Given the description of an element on the screen output the (x, y) to click on. 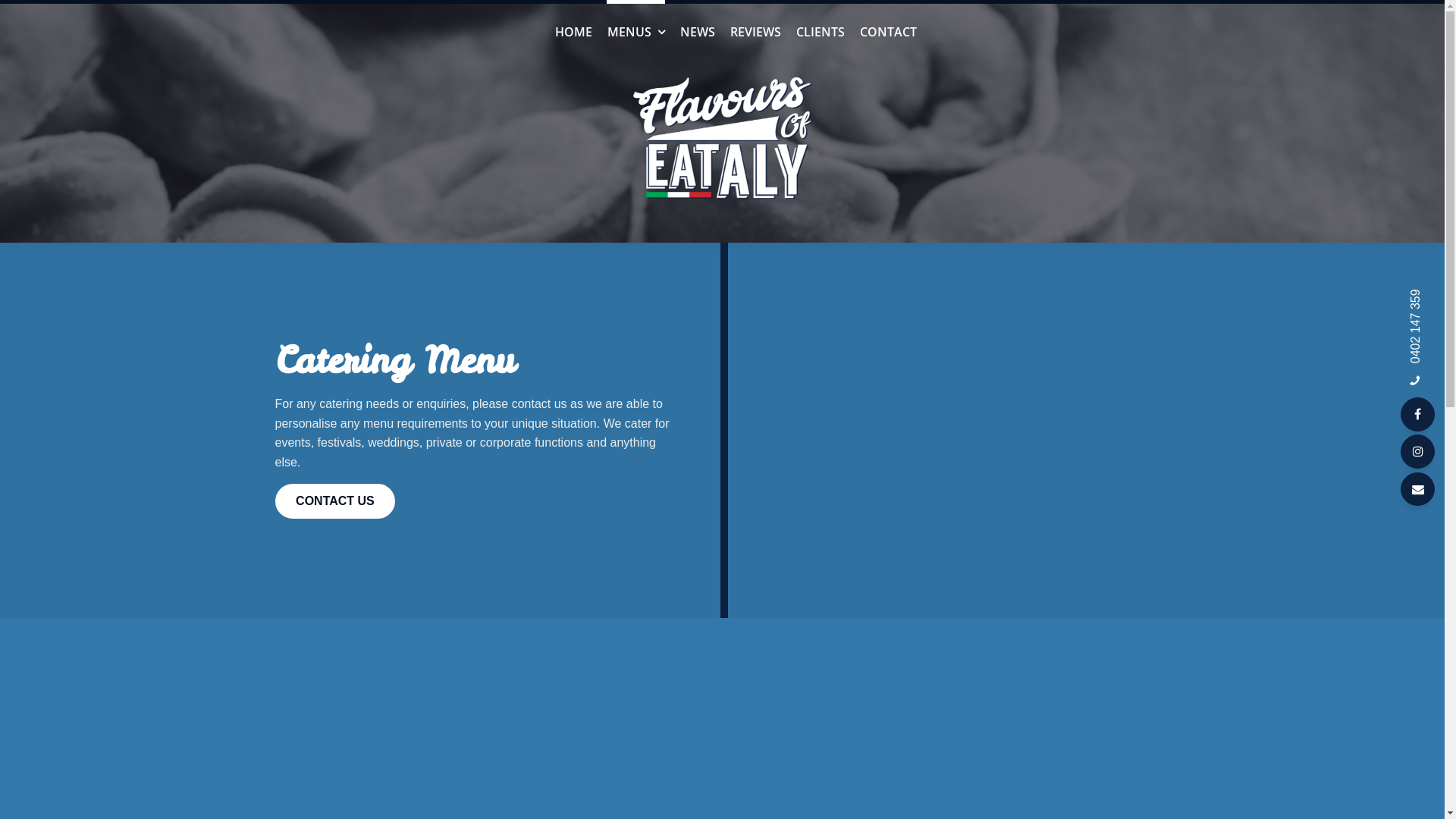
REVIEWS Element type: text (754, 32)
HOME Element type: text (573, 32)
NEWS Element type: text (696, 32)
CLIENTS Element type: text (820, 32)
CONTACT Element type: text (888, 32)
CONTACT US Element type: text (334, 500)
MENUS Element type: text (635, 32)
